Given the description of an element on the screen output the (x, y) to click on. 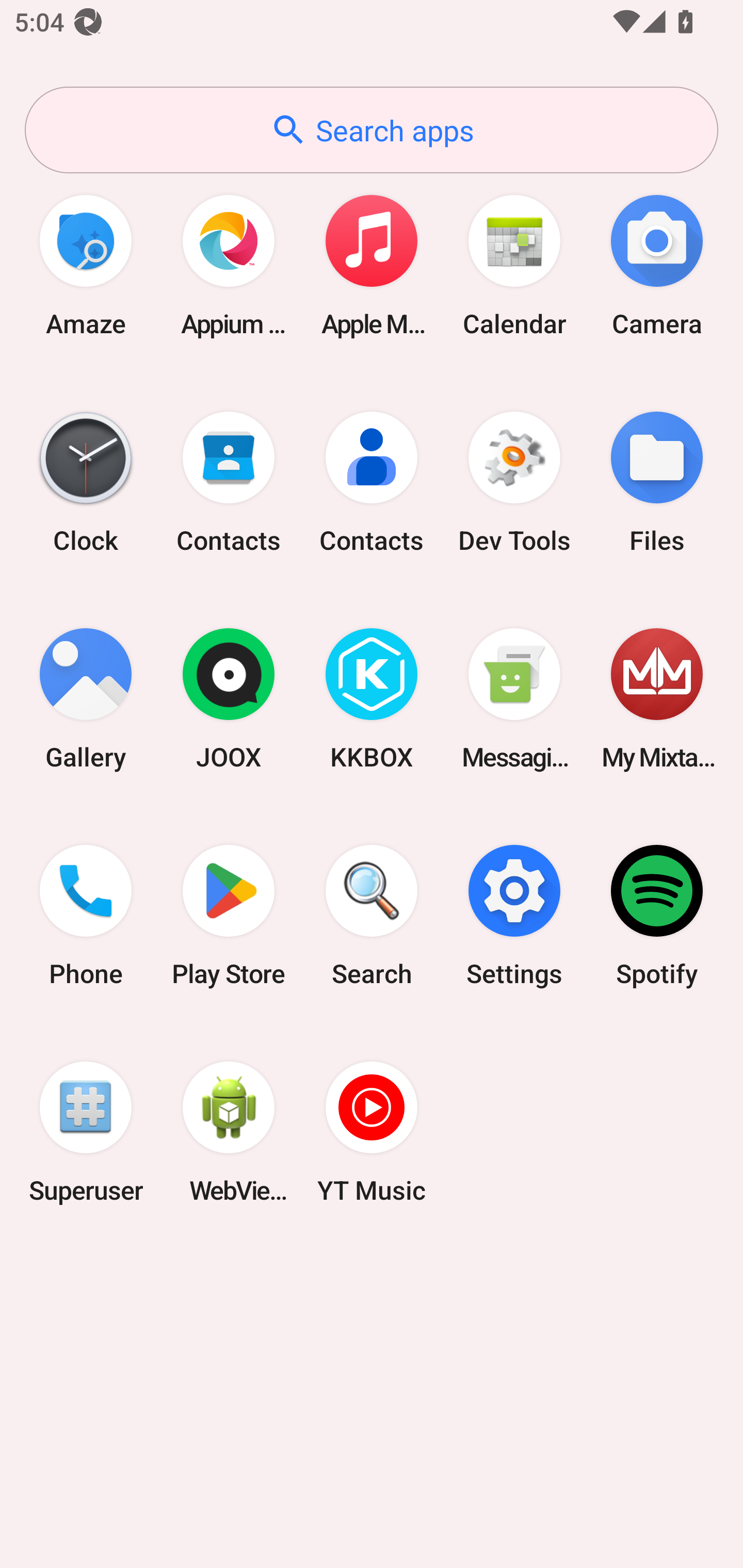
  Search apps (371, 130)
Amaze (85, 264)
Appium Settings (228, 264)
Apple Music (371, 264)
Calendar (514, 264)
Camera (656, 264)
Clock (85, 482)
Contacts (228, 482)
Contacts (371, 482)
Dev Tools (514, 482)
Files (656, 482)
Gallery (85, 699)
JOOX (228, 699)
KKBOX (371, 699)
Messaging (514, 699)
My Mixtapez (656, 699)
Phone (85, 915)
Play Store (228, 915)
Search (371, 915)
Settings (514, 915)
Spotify (656, 915)
Superuser (85, 1131)
WebView Browser Tester (228, 1131)
YT Music (371, 1131)
